Given the description of an element on the screen output the (x, y) to click on. 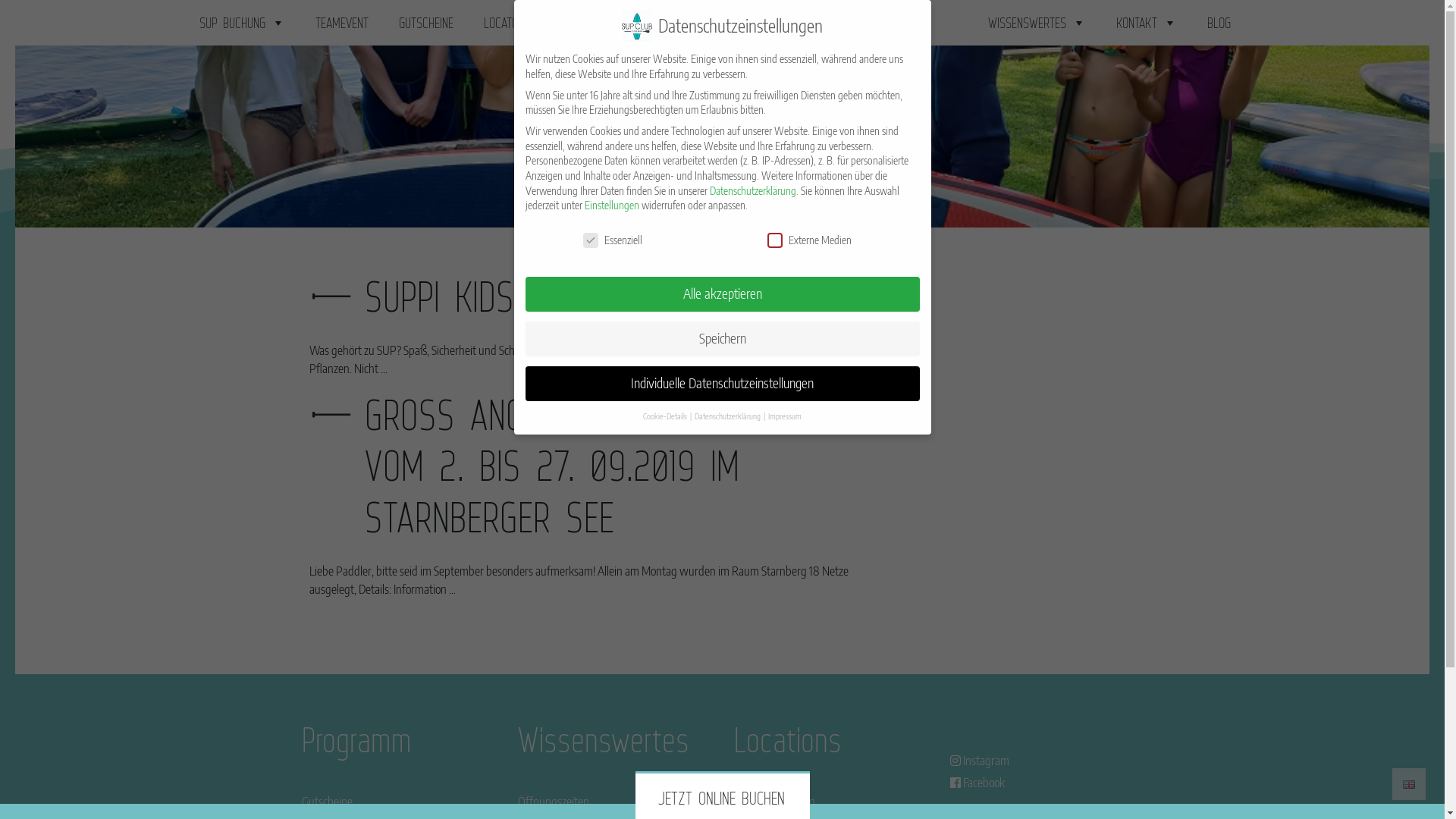
BLOG Element type: text (1218, 22)
Seebad Starnberg Element type: text (774, 801)
Instagram Element type: text (978, 760)
WISSENSWERTES Element type: text (1035, 22)
Einstellungen Element type: text (610, 204)
TEAMEVENT Element type: text (341, 22)
SUPPI KIDS CHARITY AKTIONEN Element type: text (572, 296)
Alle akzeptieren Element type: text (721, 293)
GUTSCHEINE Element type: text (426, 22)
LOCATION Element type: text (514, 22)
Cookie-Details Element type: text (665, 415)
SUP BUCHUNG Element type: text (241, 22)
Facebook Element type: text (976, 782)
Individuelle Datenschutzeinstellungen Element type: text (721, 383)
Impressum Element type: text (784, 415)
Speichern Element type: text (721, 338)
KONTAKT Element type: text (1146, 22)
Gutscheine Element type: text (326, 801)
